Given the description of an element on the screen output the (x, y) to click on. 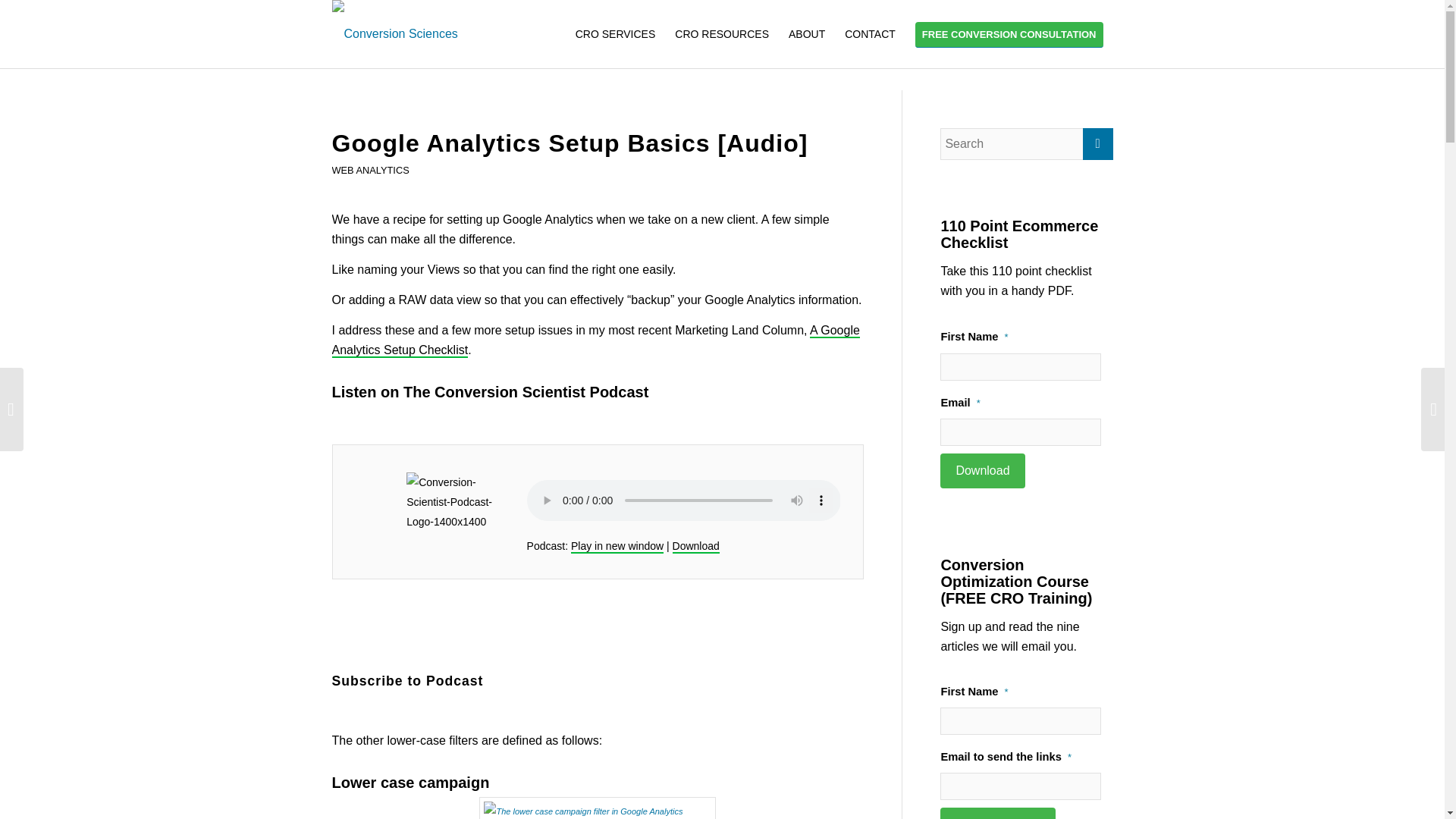
Download (695, 546)
Google Analytics Setup Checklist by Brian Massey (595, 340)
CONTACT (869, 33)
Download (982, 470)
WEB ANALYTICS (370, 170)
FREE CONVERSION CONSULTATION (1009, 33)
Join the Course (997, 813)
A Google Analytics Setup Checklist (595, 340)
CRO RESOURCES (721, 33)
Download (695, 546)
